Given the description of an element on the screen output the (x, y) to click on. 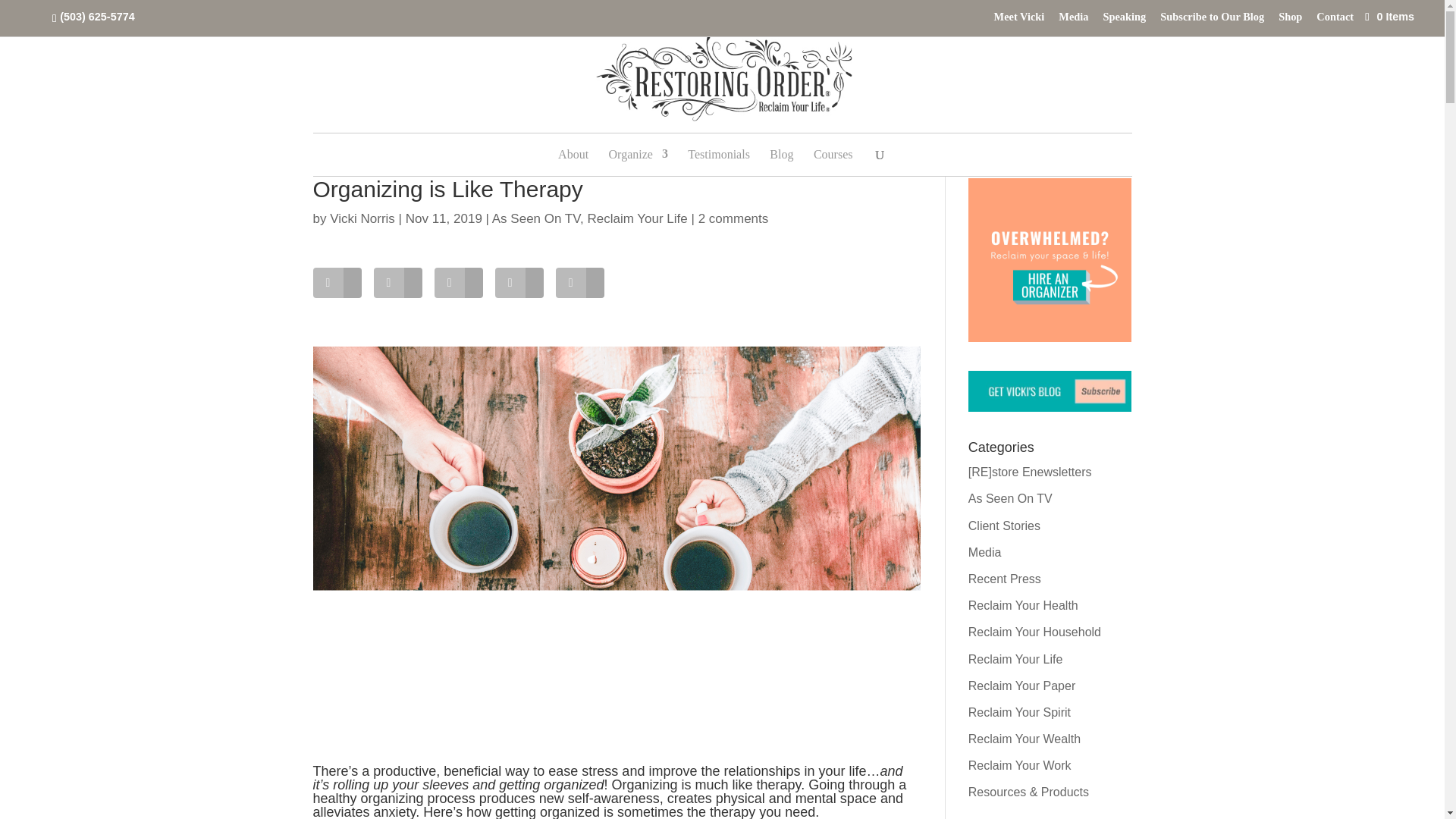
Shop (1289, 20)
Speaking (1123, 20)
Organize (638, 154)
Meet Vicki (1019, 20)
Testimonials (718, 154)
Posts by Vicki Norris (362, 218)
Contact (1335, 20)
As Seen On TV (535, 218)
Vicki Norris (362, 218)
Reclaim Your Life (636, 218)
